Given the description of an element on the screen output the (x, y) to click on. 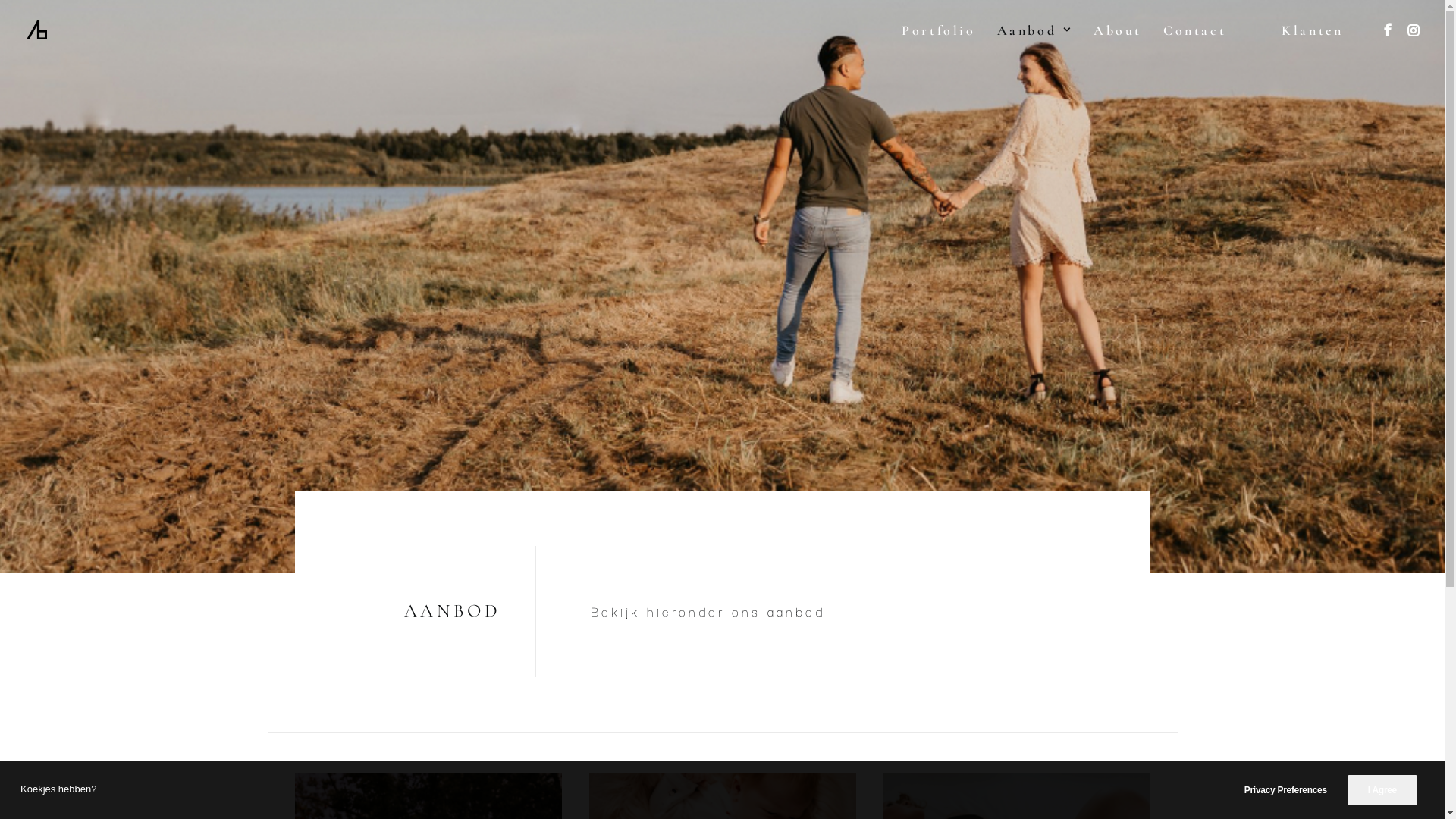
Aanbod Element type: text (1034, 29)
Portfolio Element type: text (938, 29)
Contact Element type: text (1189, 29)
Klanten Element type: text (1315, 29)
About Element type: text (1117, 29)
I Agree Element type: text (1382, 790)
Privacy Preferences Element type: text (1295, 789)
